Given the description of an element on the screen output the (x, y) to click on. 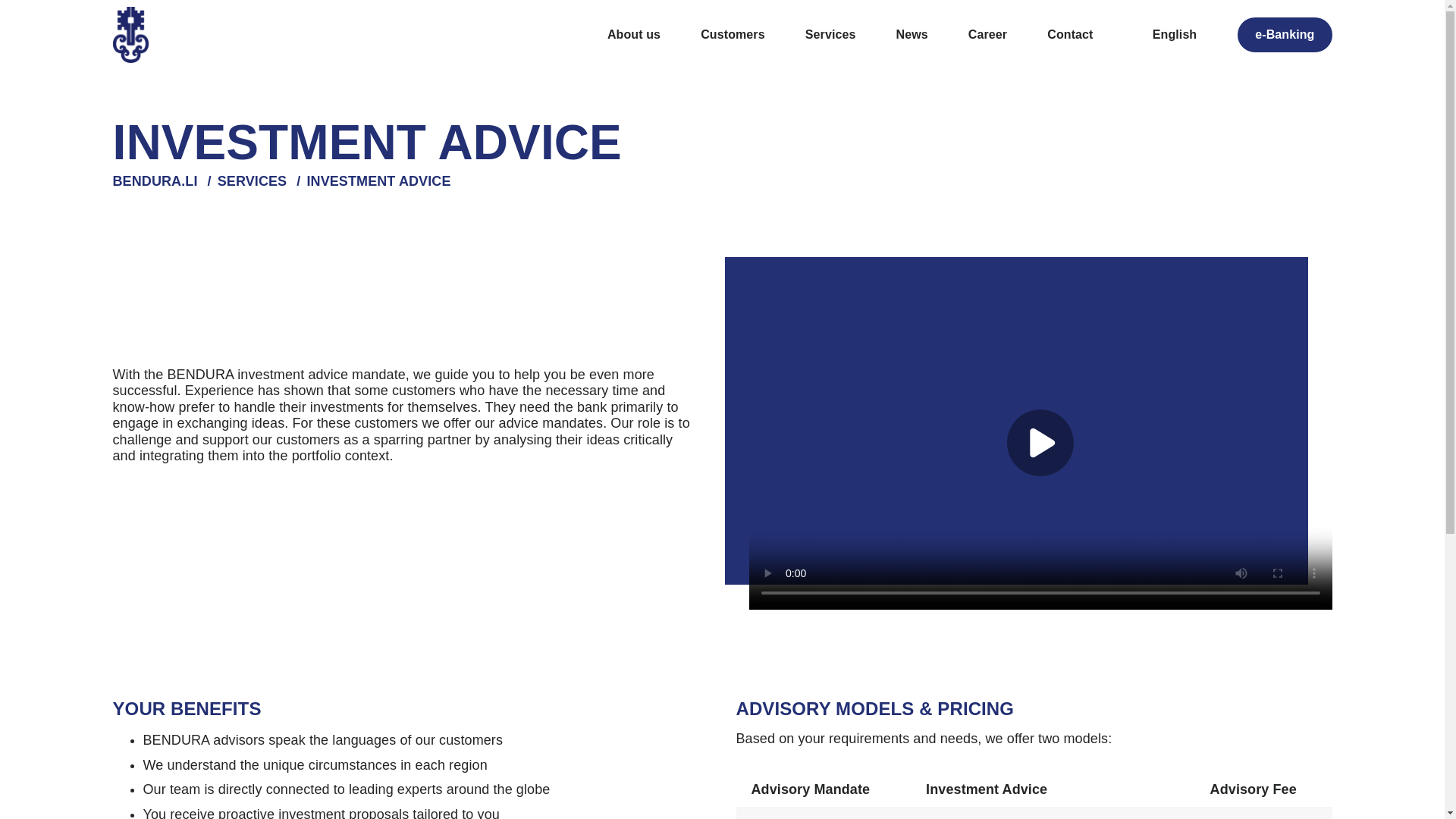
Services (830, 34)
e-Banking (1284, 34)
Career (987, 34)
Contact (1070, 34)
Customers (732, 34)
English (1174, 34)
About us (633, 34)
